Given the description of an element on the screen output the (x, y) to click on. 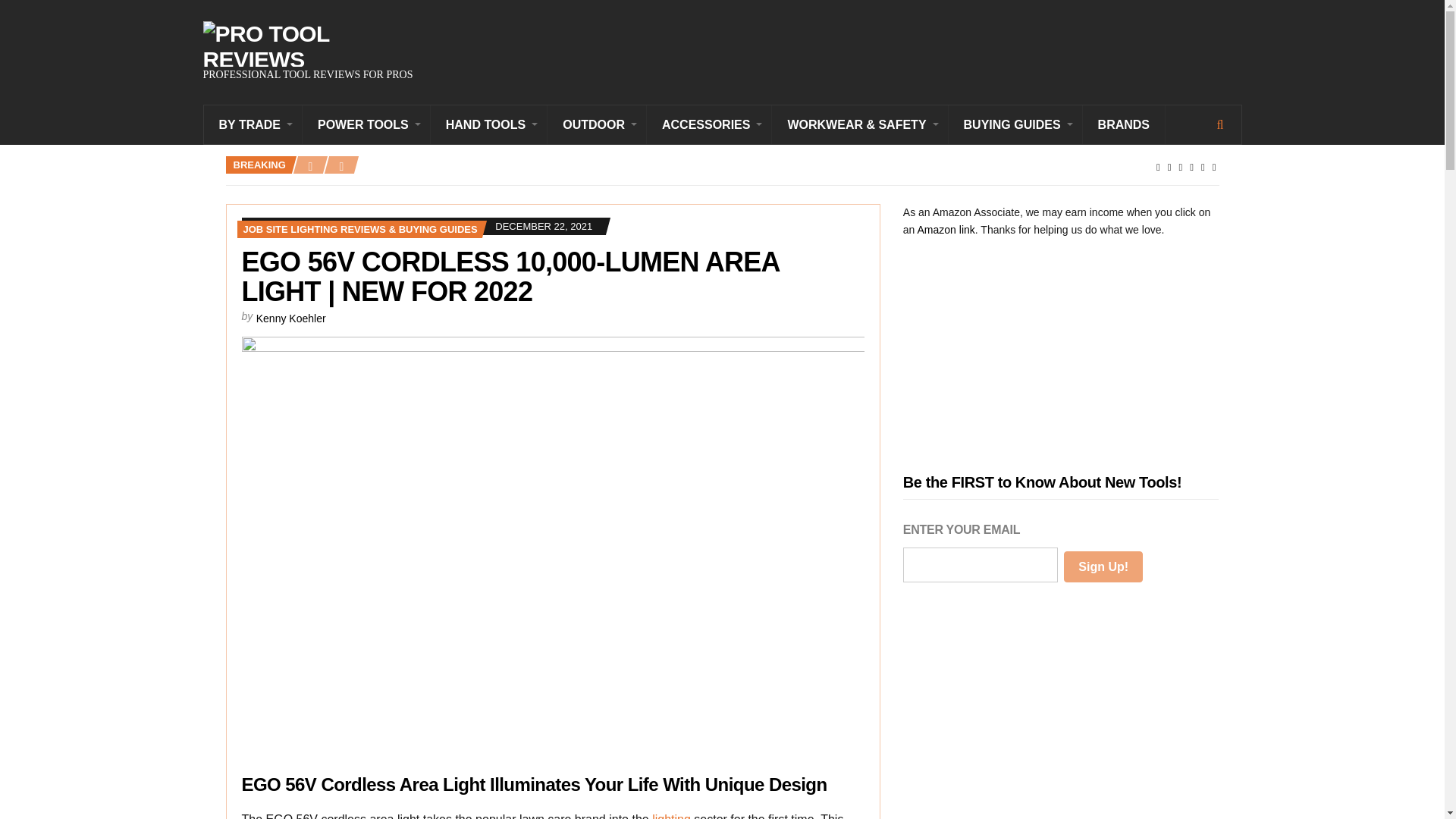
POWER TOOLS (366, 124)
HAND TOOLS (488, 124)
BY TRADE (252, 124)
Sign Up! (1103, 566)
